Given the description of an element on the screen output the (x, y) to click on. 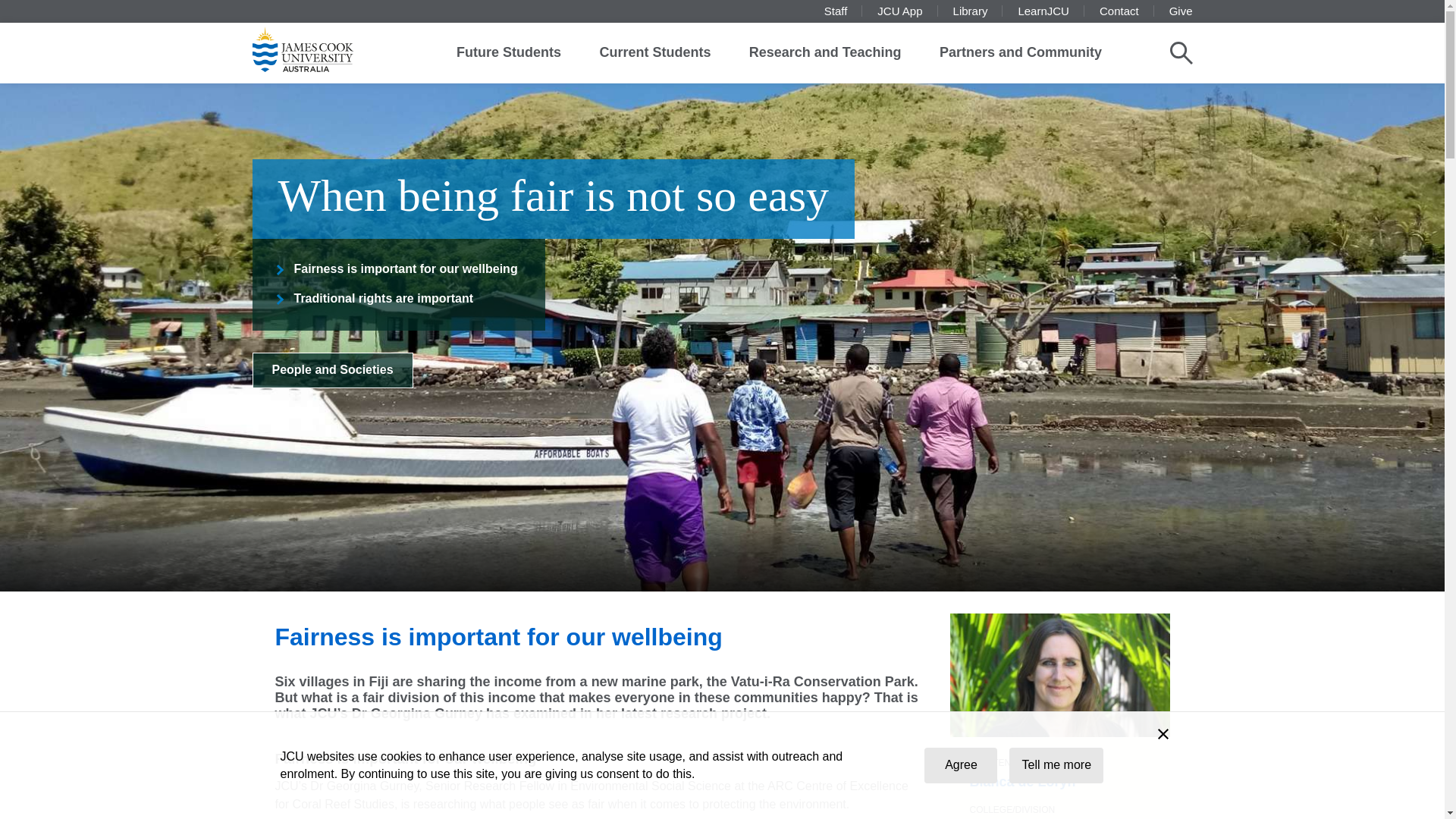
LearnJCU (1042, 10)
Library (970, 10)
JCU App (899, 10)
Give (1180, 10)
Close popup for session (1163, 735)
Future Students (508, 52)
James Cook University Home (319, 49)
Contact (1118, 10)
Staff (835, 10)
Current Students (654, 52)
